Given the description of an element on the screen output the (x, y) to click on. 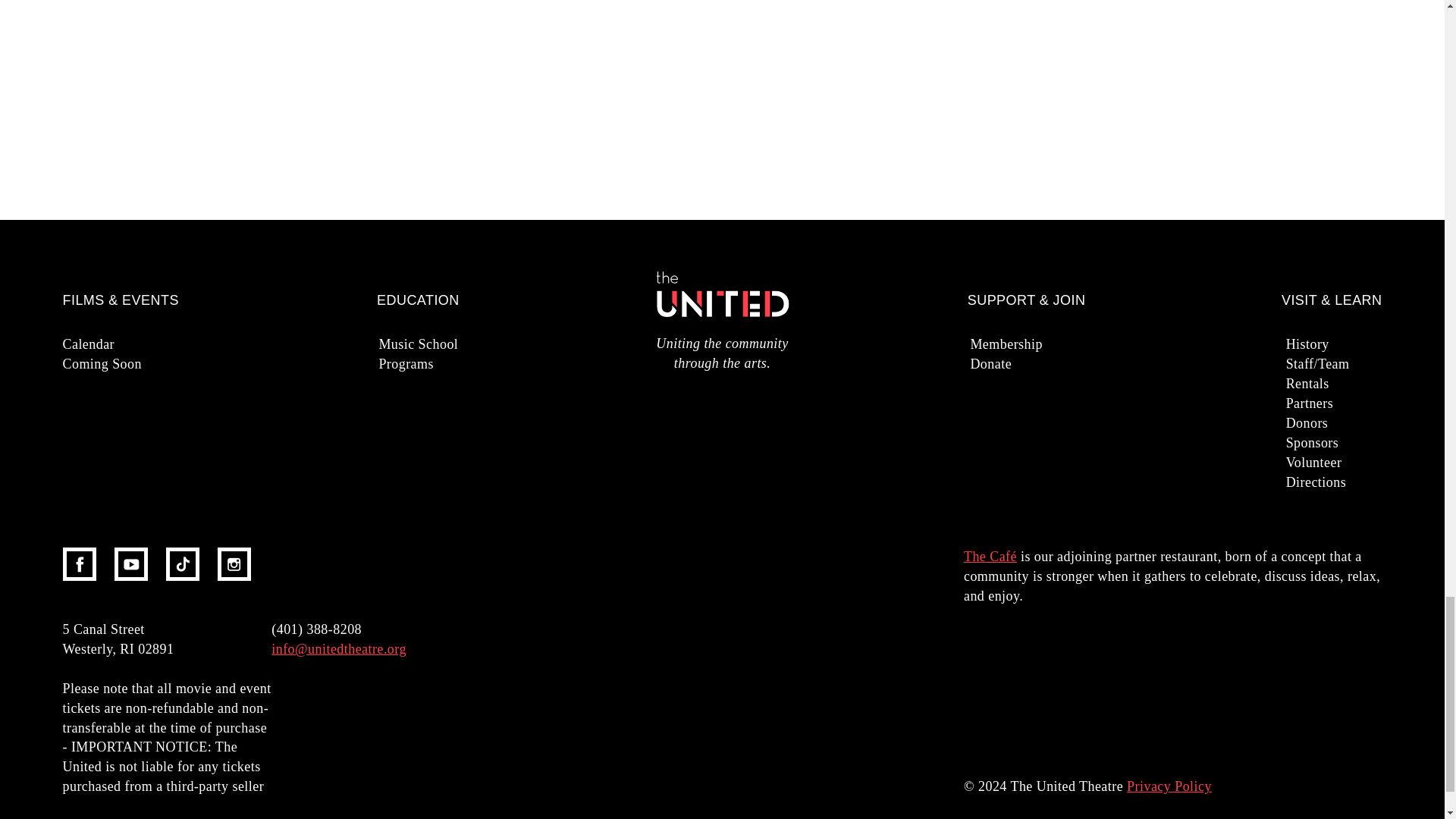
Rentals (1361, 383)
Coming Soon (138, 363)
History (1361, 343)
Sponsors (1361, 442)
United Theatre (722, 298)
Calendar (138, 343)
Partners (1361, 403)
EDUCATION (418, 300)
Music School (453, 343)
Donors (1361, 423)
Programs (453, 363)
